Given the description of an element on the screen output the (x, y) to click on. 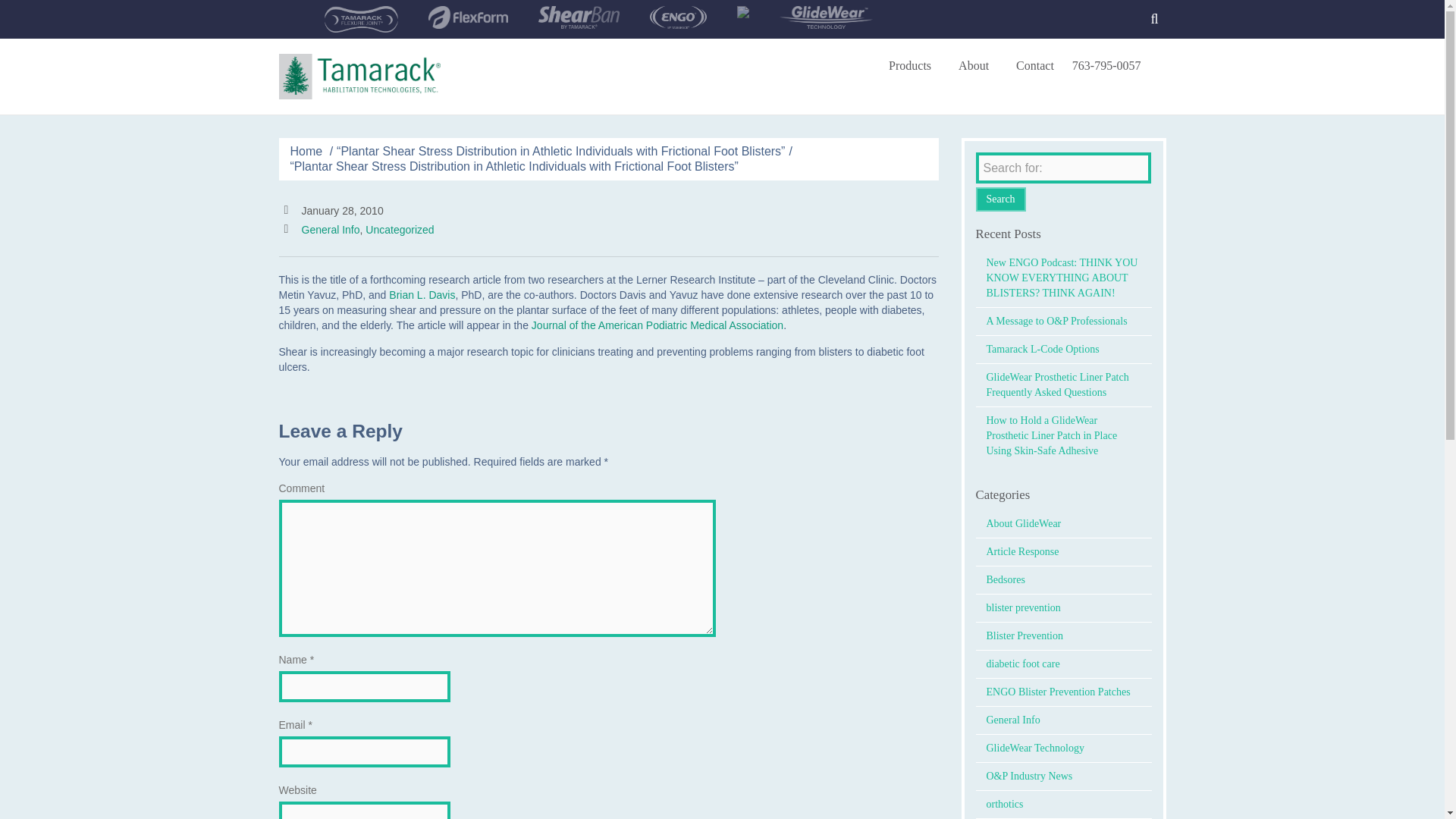
Search (1154, 19)
Tamarack Habilitation Technologies, Inc. (360, 75)
Products (914, 65)
